Given the description of an element on the screen output the (x, y) to click on. 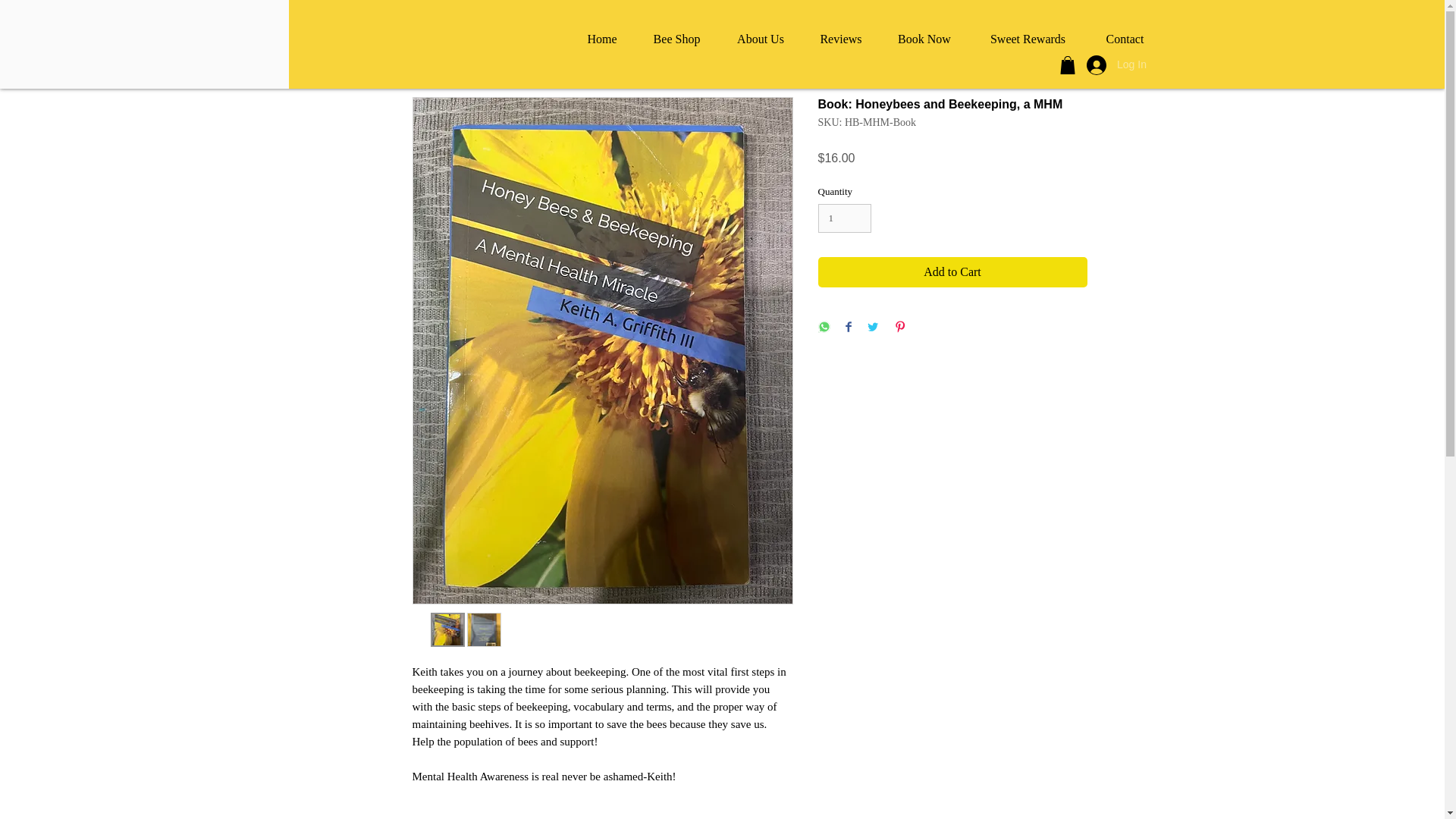
Home (601, 39)
Contact (1124, 39)
About Us (760, 39)
Bee Shop (676, 39)
Sweet Rewards (1027, 39)
1 (843, 217)
Reviews (840, 39)
Add to Cart (951, 272)
Log In (1113, 63)
